Given the description of an element on the screen output the (x, y) to click on. 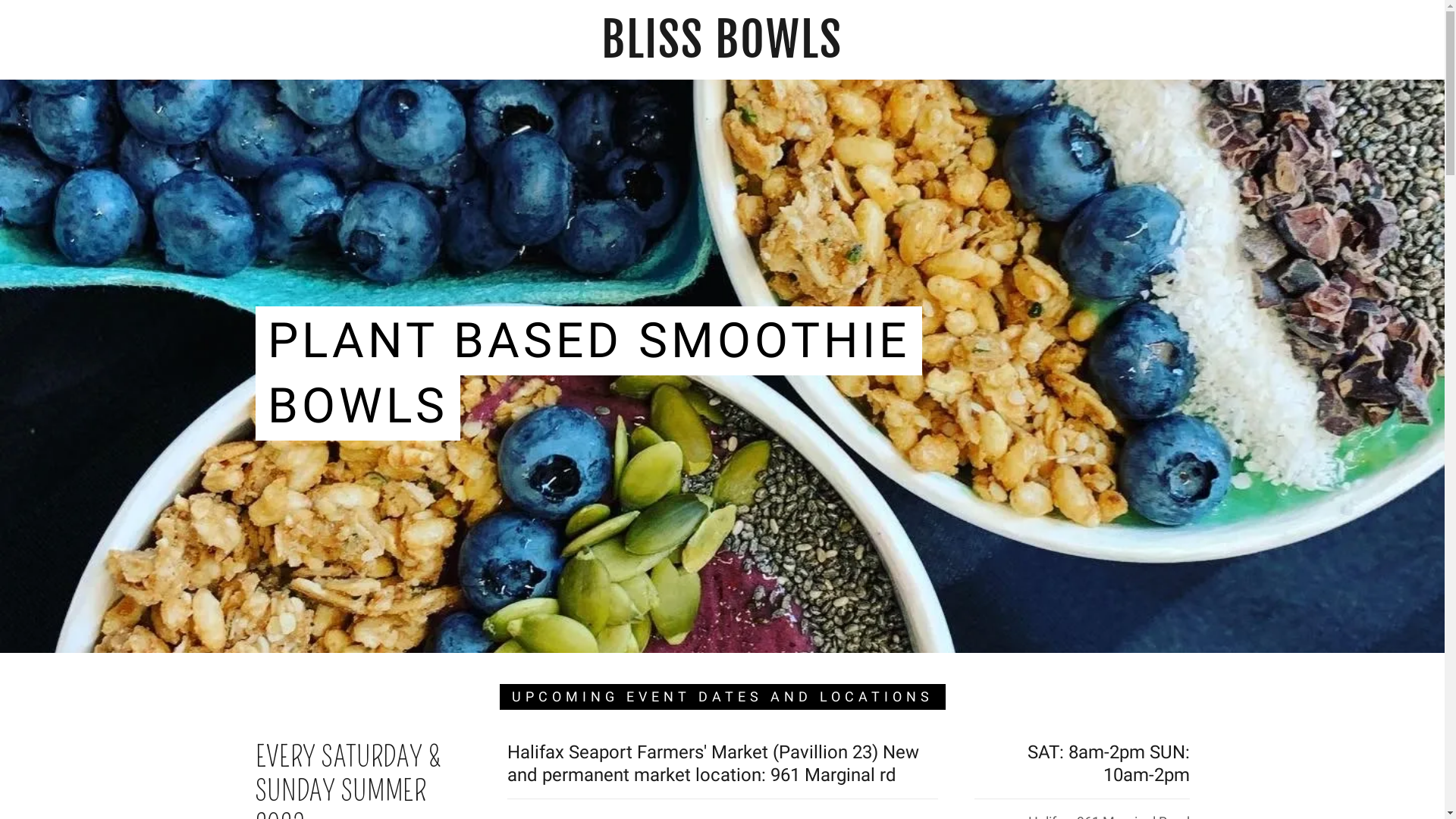
BLISS BOWLS Element type: text (721, 52)
